Given the description of an element on the screen output the (x, y) to click on. 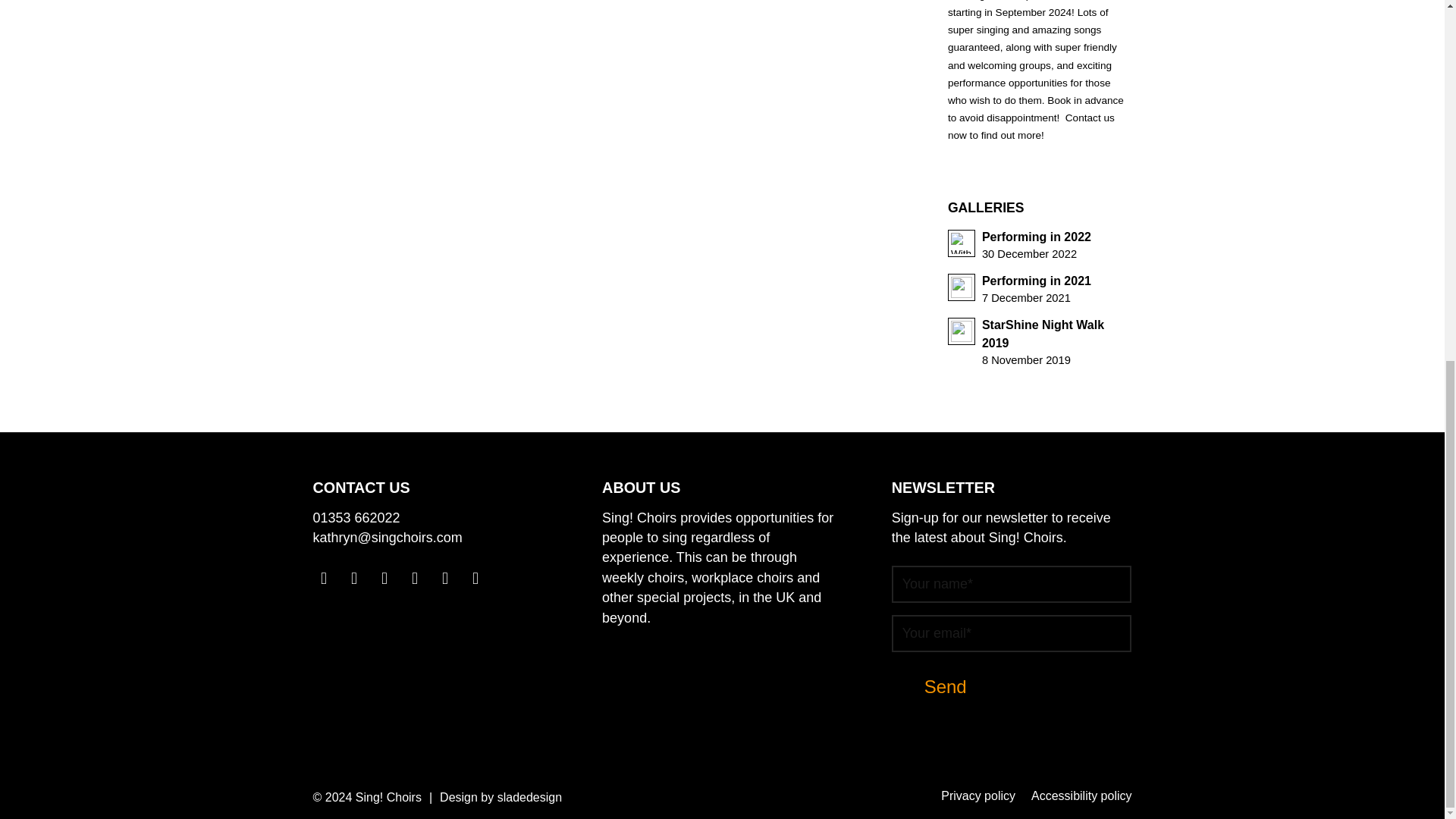
Performing in 2021 (1039, 341)
Performing in 2022 (1039, 289)
01353 662022 (1039, 244)
Privacy policy (355, 518)
Instagram (977, 796)
Twitter (414, 578)
Send (353, 578)
StarShine Night Walk 2019 (944, 687)
Send (1039, 341)
Facebook (1039, 289)
LinkedIn (944, 687)
Accessibility policy (323, 578)
